Given the description of an element on the screen output the (x, y) to click on. 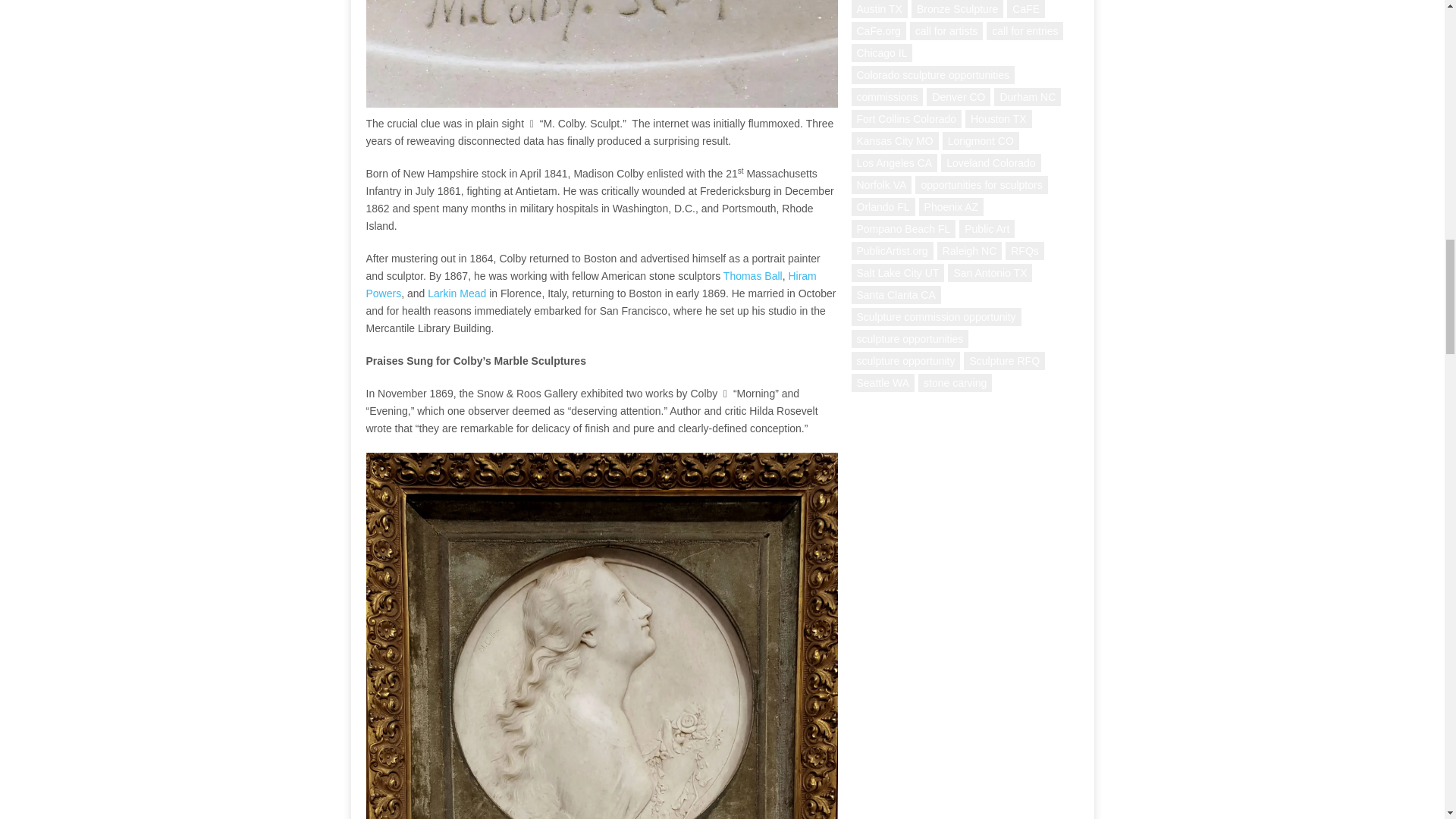
Hiram Powers (590, 284)
Larkin Mead (457, 293)
Thomas Ball (753, 275)
